Given the description of an element on the screen output the (x, y) to click on. 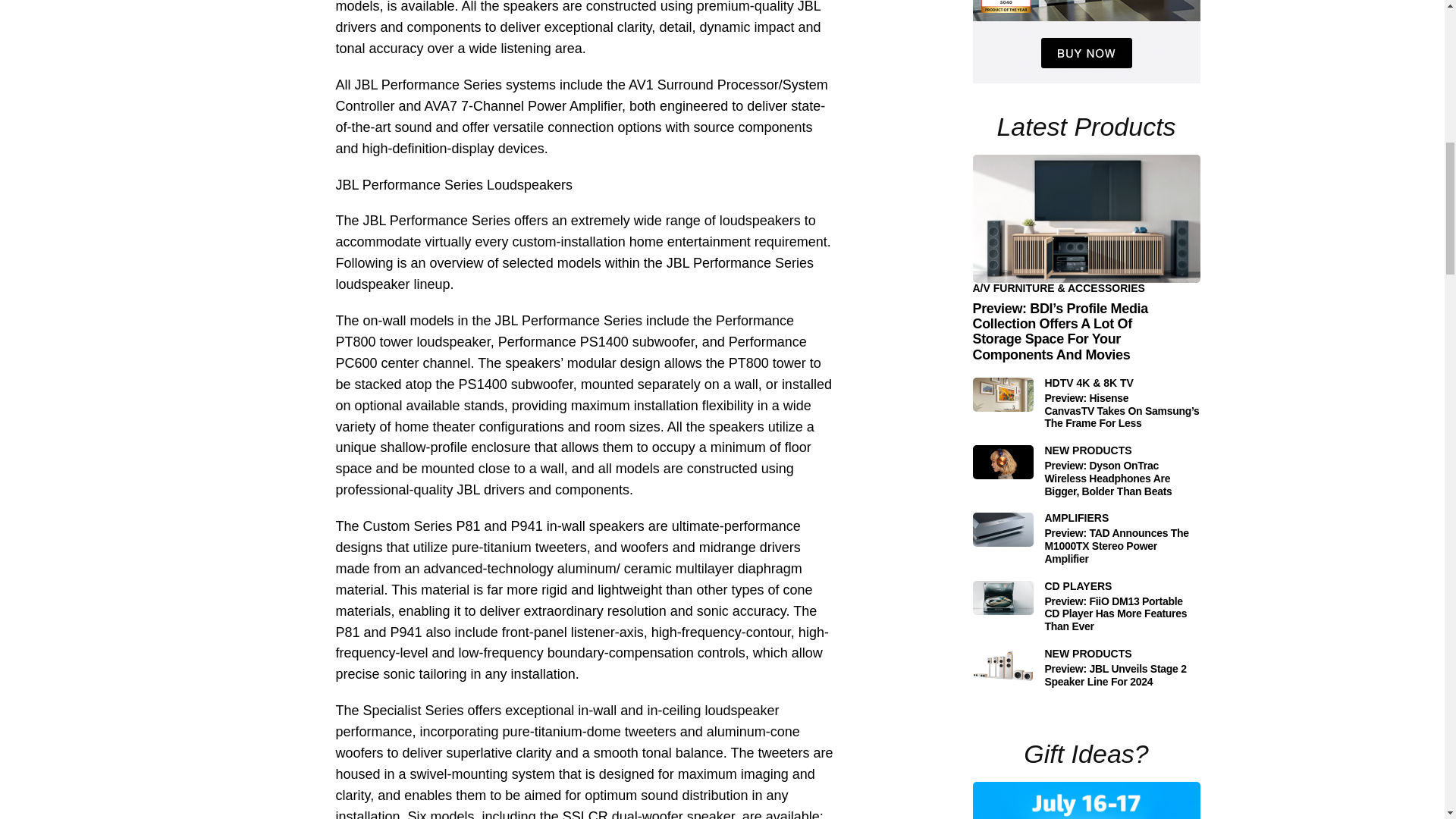
3rd party ad content (1085, 41)
